Given the description of an element on the screen output the (x, y) to click on. 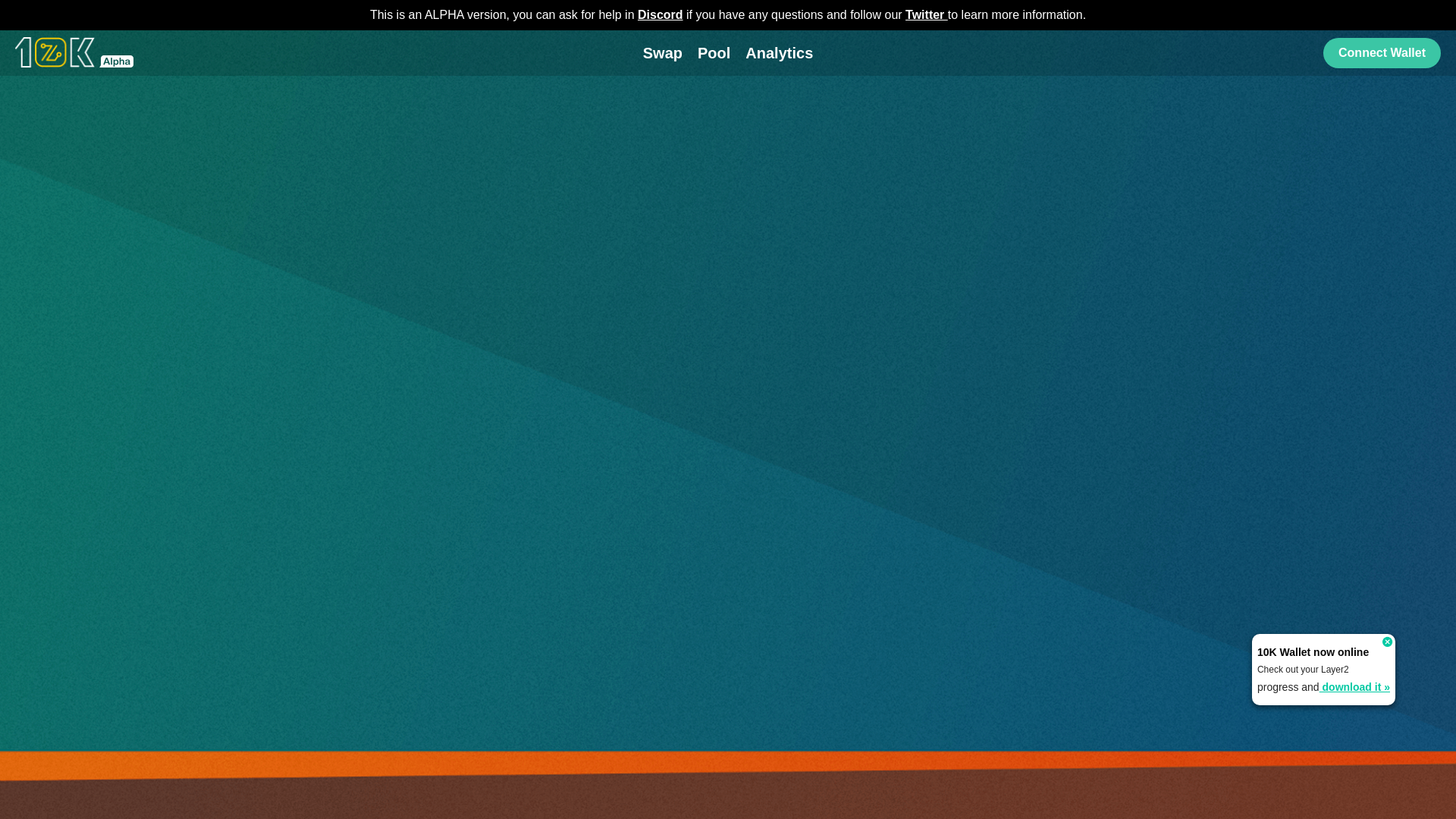
Swap Element type: text (662, 52)
Pool Element type: text (713, 52)
Twitter Element type: text (926, 14)
Analytics Element type: text (778, 52)
Discord Element type: text (660, 14)
Connect Wallet Element type: text (1381, 52)
